Given the description of an element on the screen output the (x, y) to click on. 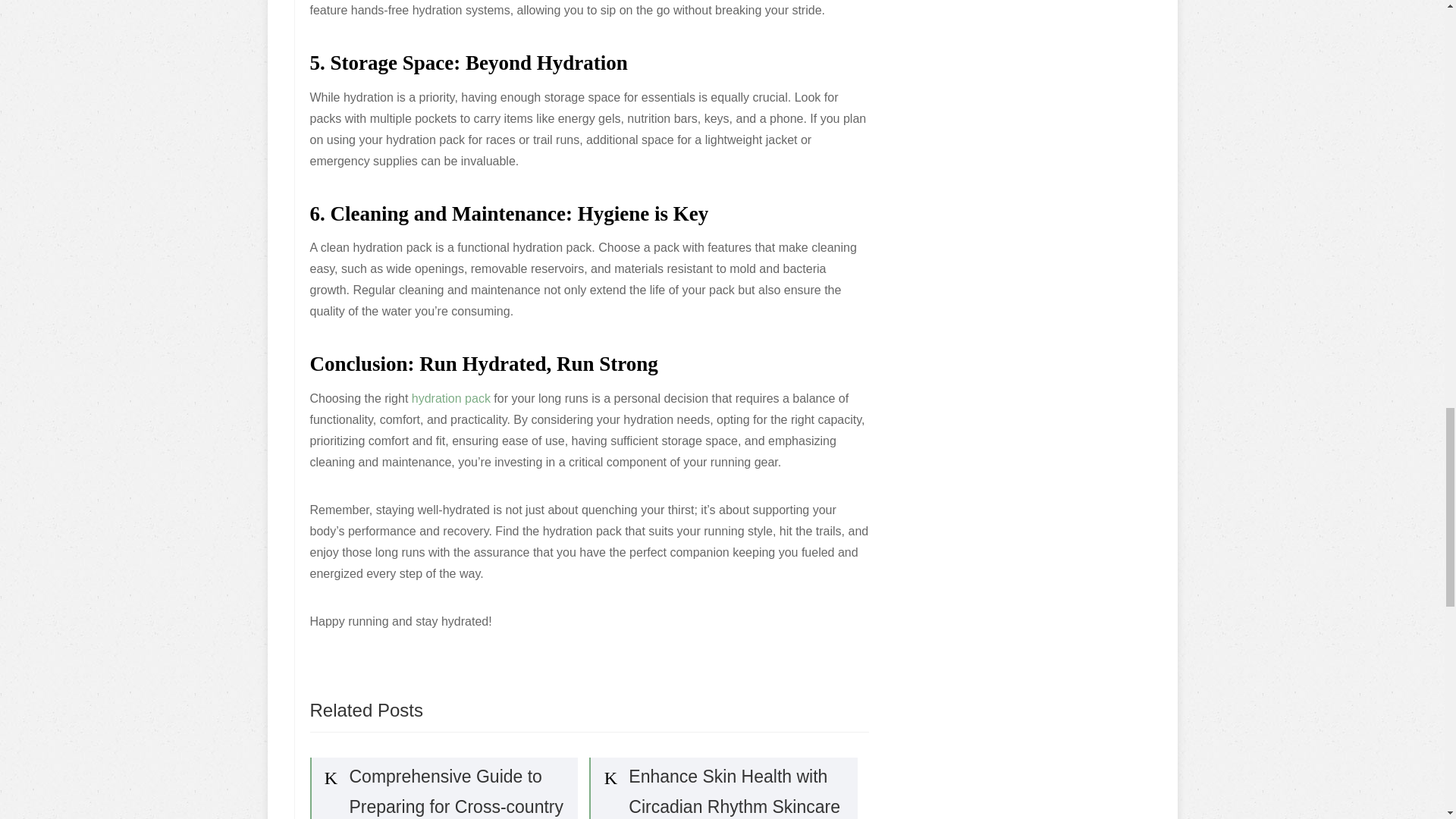
hydration pack (451, 398)
